Given the description of an element on the screen output the (x, y) to click on. 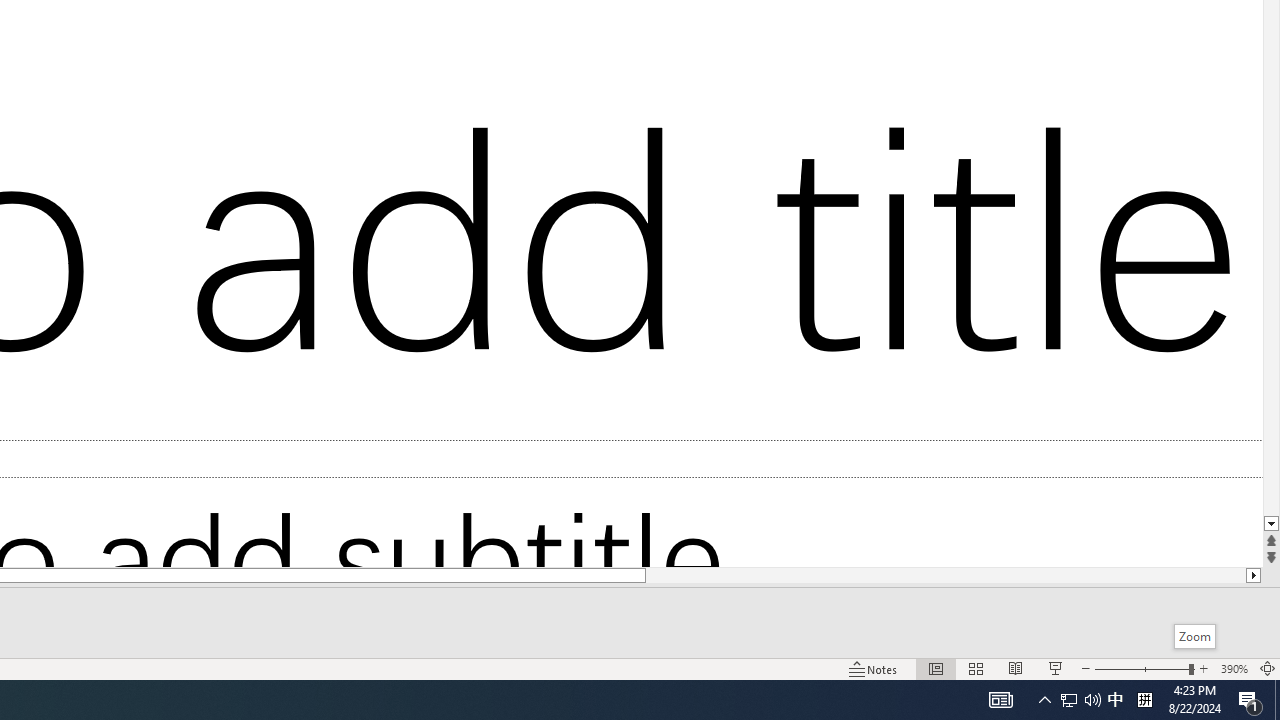
Zoom 390% (1234, 668)
